Given the description of an element on the screen output the (x, y) to click on. 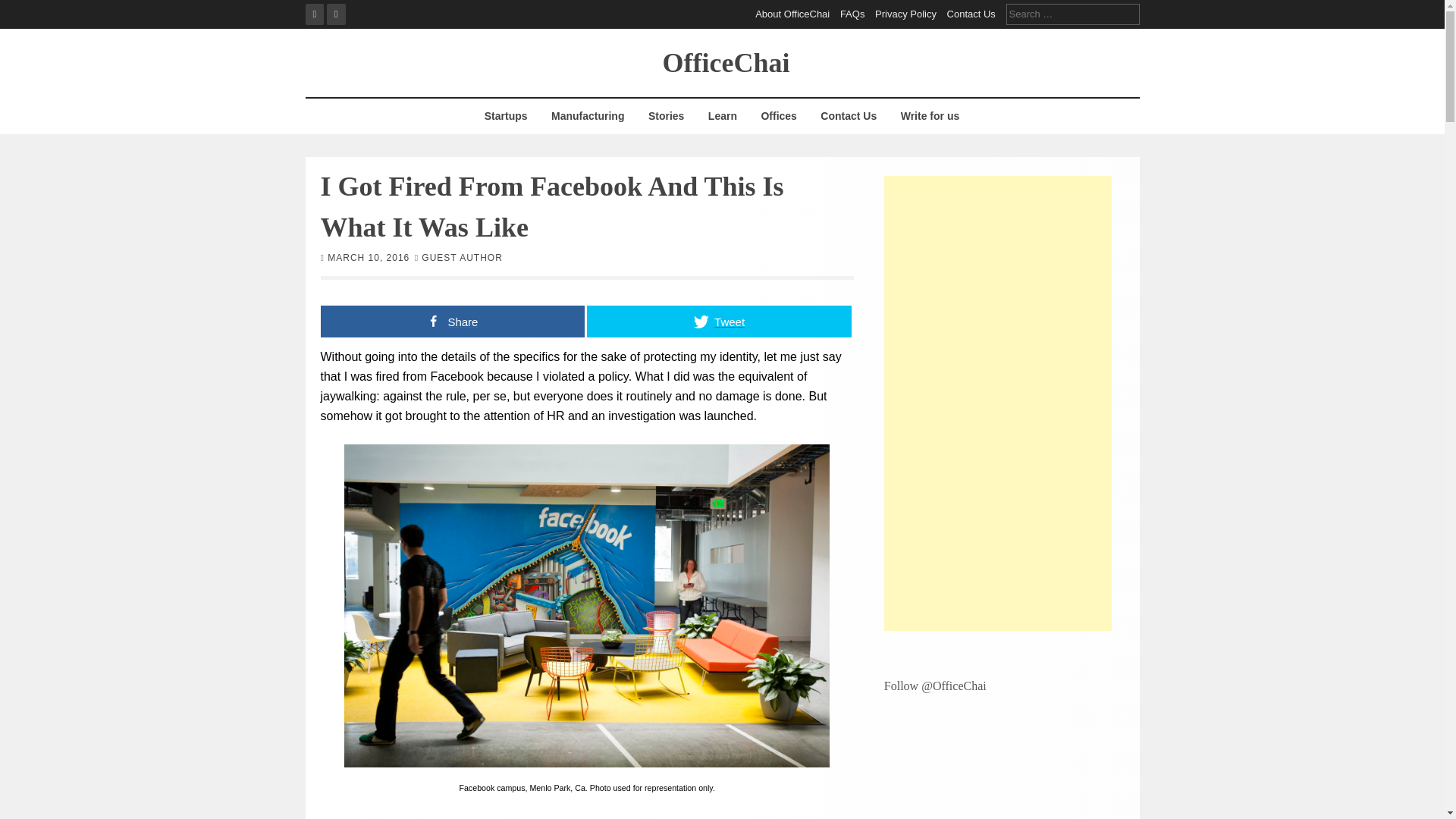
Privacy Policy (905, 13)
Learn (722, 116)
Contact Us (848, 116)
Stories (666, 116)
OfficeChai (726, 61)
MARCH 10, 2016 (368, 256)
Manufacturing (587, 116)
About OfficeChai (792, 13)
FAQs (852, 13)
GUEST AUTHOR (462, 256)
Write for us (930, 116)
Tweet (718, 320)
Contact Us (971, 13)
Share (452, 320)
Offices (778, 116)
